Given the description of an element on the screen output the (x, y) to click on. 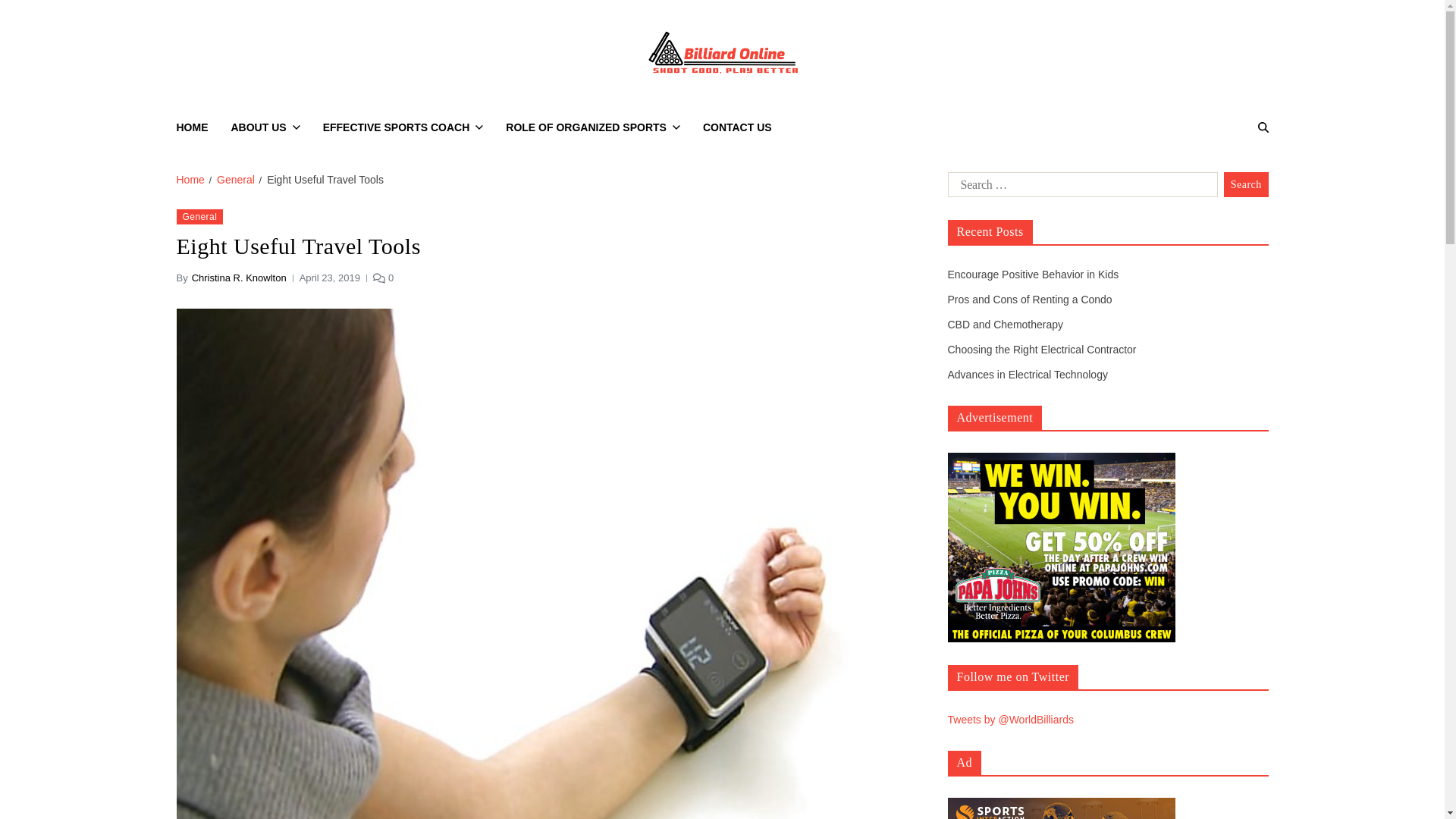
Home (189, 179)
Choosing the Right Electrical Contractor (1042, 349)
CBD and Chemotherapy (1005, 324)
EFFECTIVE SPORTS COACH (403, 127)
Encourage Positive Behavior in Kids (1033, 274)
0 (382, 278)
Search (1224, 180)
Christina R. Knowlton (239, 278)
Pros and Cons of Renting a Condo (1029, 299)
ROLE OF ORGANIZED SPORTS (592, 127)
Search (1246, 184)
Billiard-Online - Shoot Good, Play Better (931, 99)
General (235, 179)
Search (1246, 184)
Advances in Electrical Technology (1027, 374)
